Given the description of an element on the screen output the (x, y) to click on. 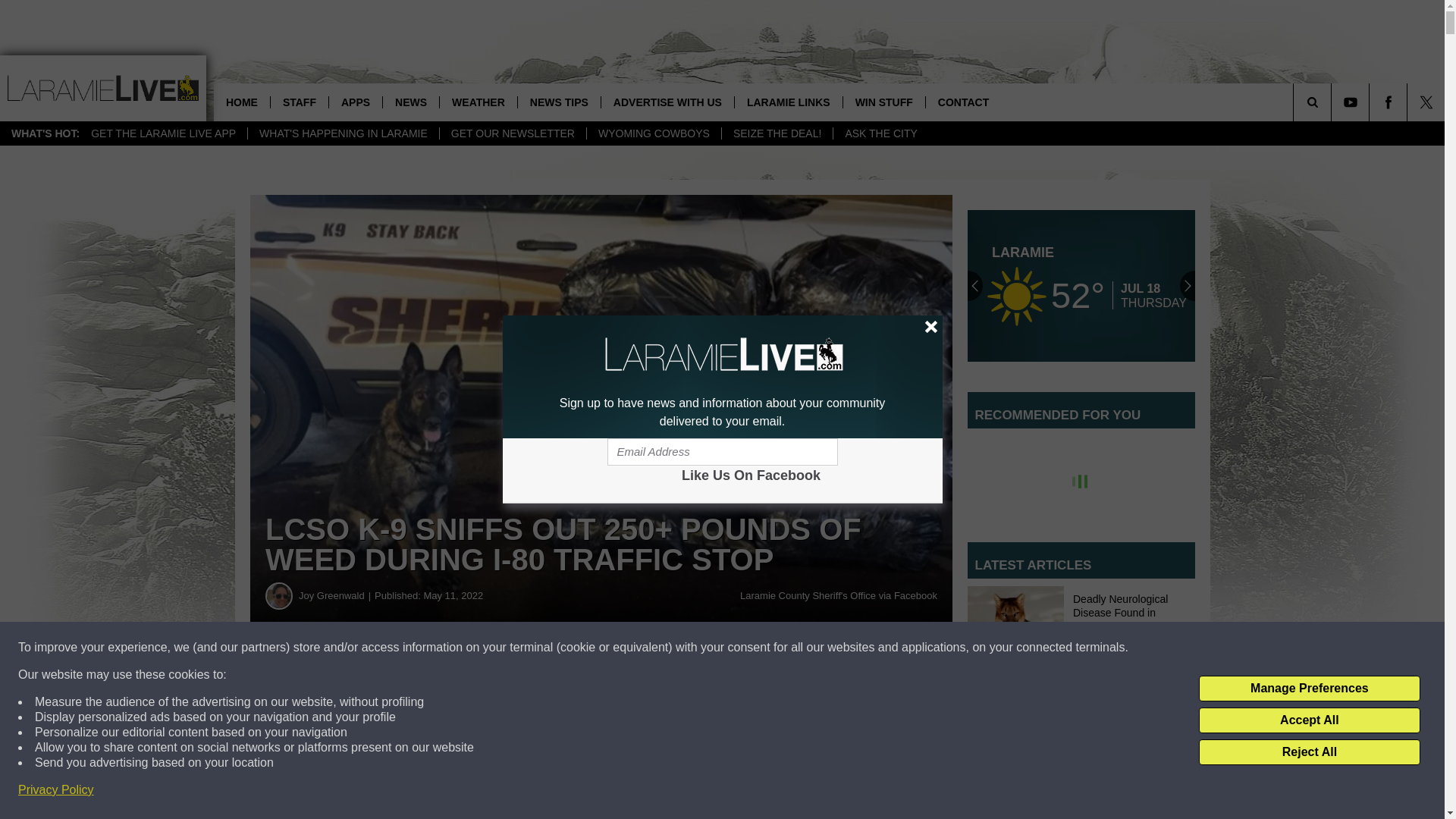
Manage Preferences (1309, 688)
SEIZE THE DEAL! (776, 133)
Privacy Policy (55, 789)
SEARCH (1333, 102)
Share on Facebook (460, 681)
Share on Twitter (741, 681)
Accept All (1309, 720)
GET OUR NEWSLETTER (512, 133)
HOME (241, 102)
WYOMING COWBOYS (653, 133)
Laramie Weather (1081, 285)
ADVERTISE WITH US (666, 102)
WIN STUFF (883, 102)
LARAMIE LINKS (788, 102)
Email Address (722, 452)
